Given the description of an element on the screen output the (x, y) to click on. 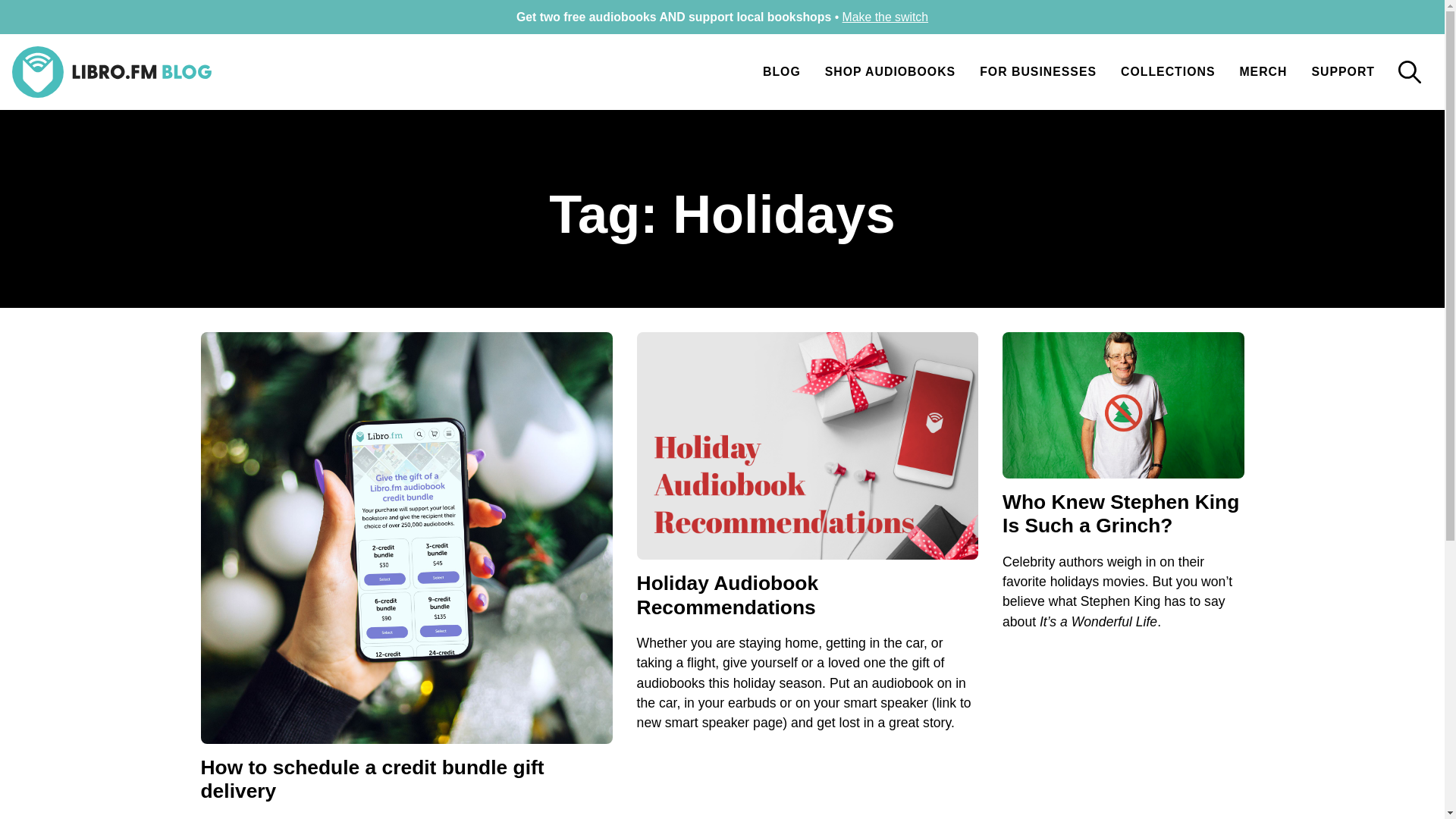
COLLECTIONS (1167, 71)
MERCH (1262, 71)
SUPPORT (1342, 71)
Make the switch (885, 16)
SHOP AUDIOBOOKS (890, 71)
FOR BUSINESSES (1038, 71)
